Given the description of an element on the screen output the (x, y) to click on. 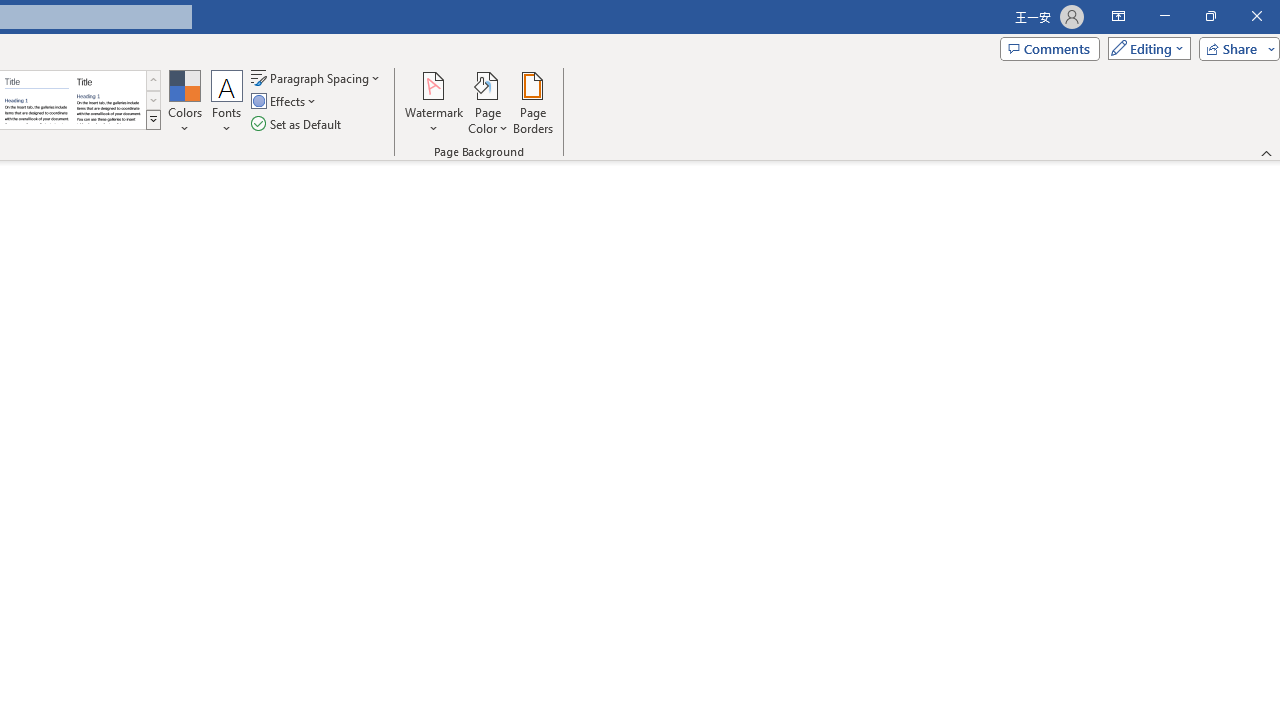
Word 2013 (108, 100)
Fonts (227, 102)
Watermark (434, 102)
Word 2010 (36, 100)
Editing (1144, 47)
Style Set (153, 120)
Paragraph Spacing (317, 78)
Colors (184, 102)
Set as Default (298, 124)
